Given the description of an element on the screen output the (x, y) to click on. 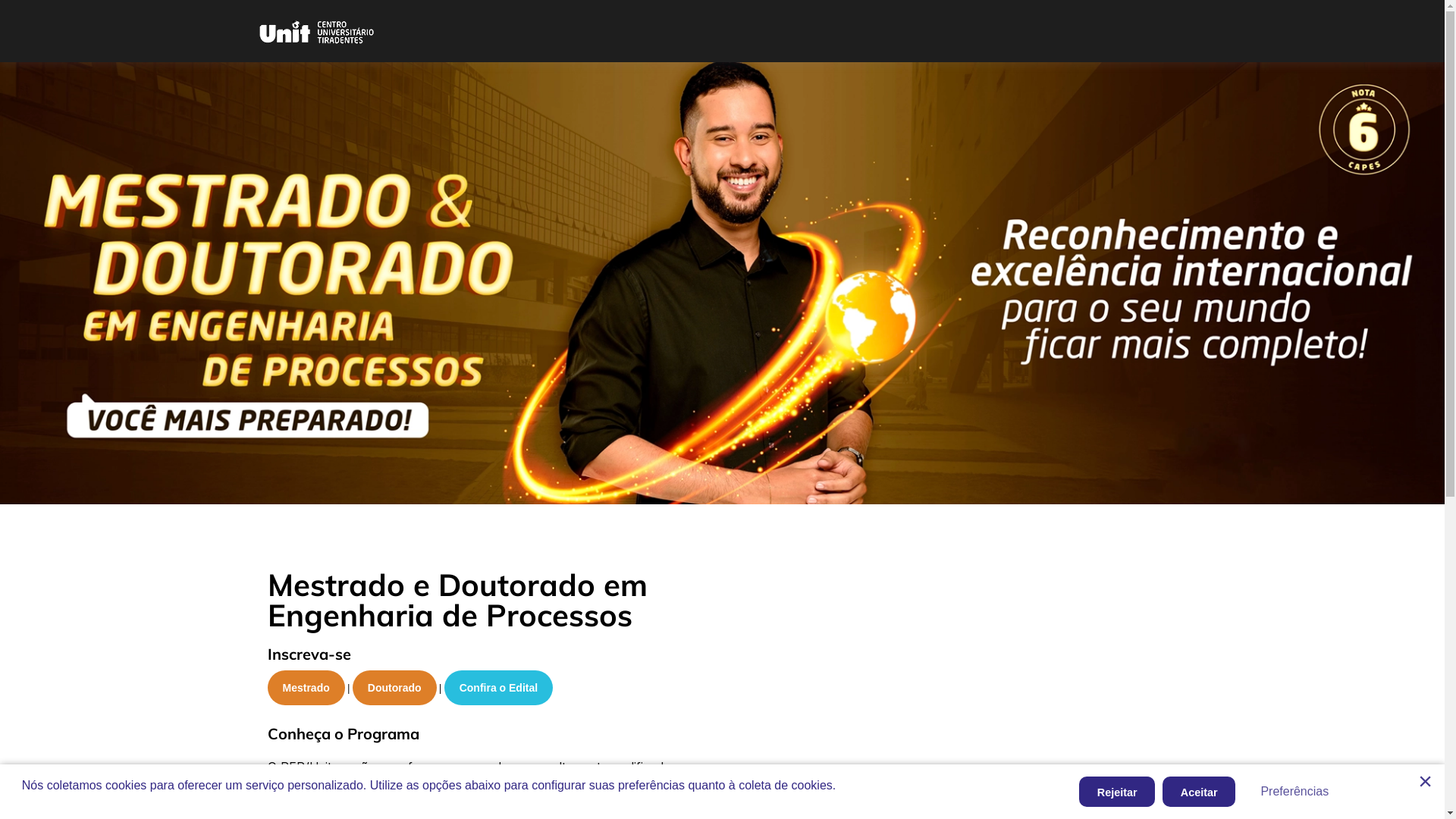
Confira o Edital Element type: text (498, 687)
Aceitar Element type: text (1198, 791)
ppg-engenharia Element type: hover (722, 283)
Rejeitar Element type: text (1116, 791)
Mestrado Element type: text (305, 687)
Doutorado Element type: text (394, 687)
